Given the description of an element on the screen output the (x, y) to click on. 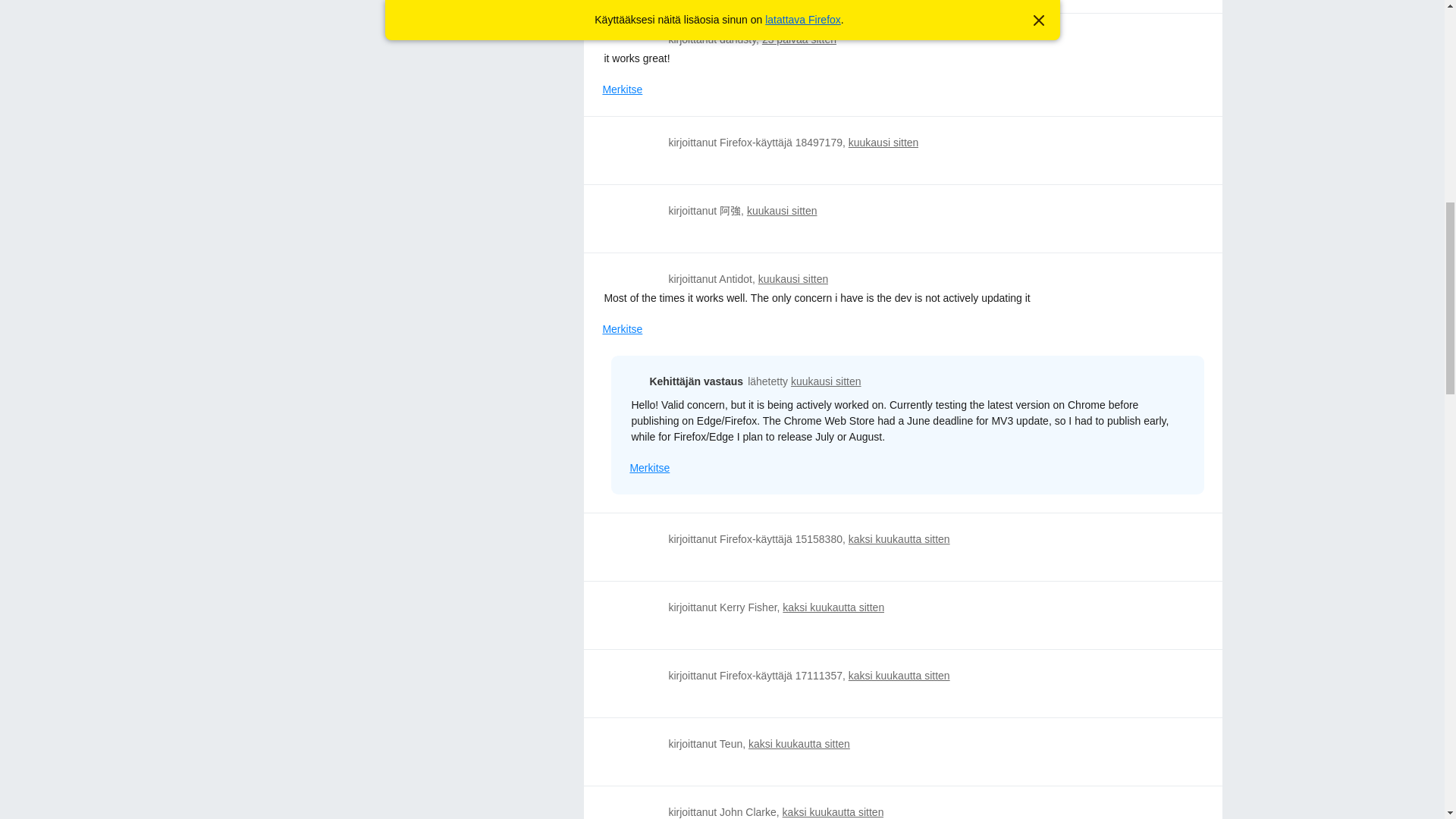
Merkitse (622, 329)
Merkitse (648, 467)
Merkitse (622, 89)
kuukausi sitten (825, 381)
kaksi kuukautta sitten (833, 811)
kaksi kuukautta sitten (899, 539)
kuukausi sitten (883, 142)
kuukausi sitten (781, 210)
kuukausi sitten (793, 278)
kaksi kuukautta sitten (899, 675)
kaksi kuukautta sitten (799, 743)
kaksi kuukautta sitten (833, 607)
